Given the description of an element on the screen output the (x, y) to click on. 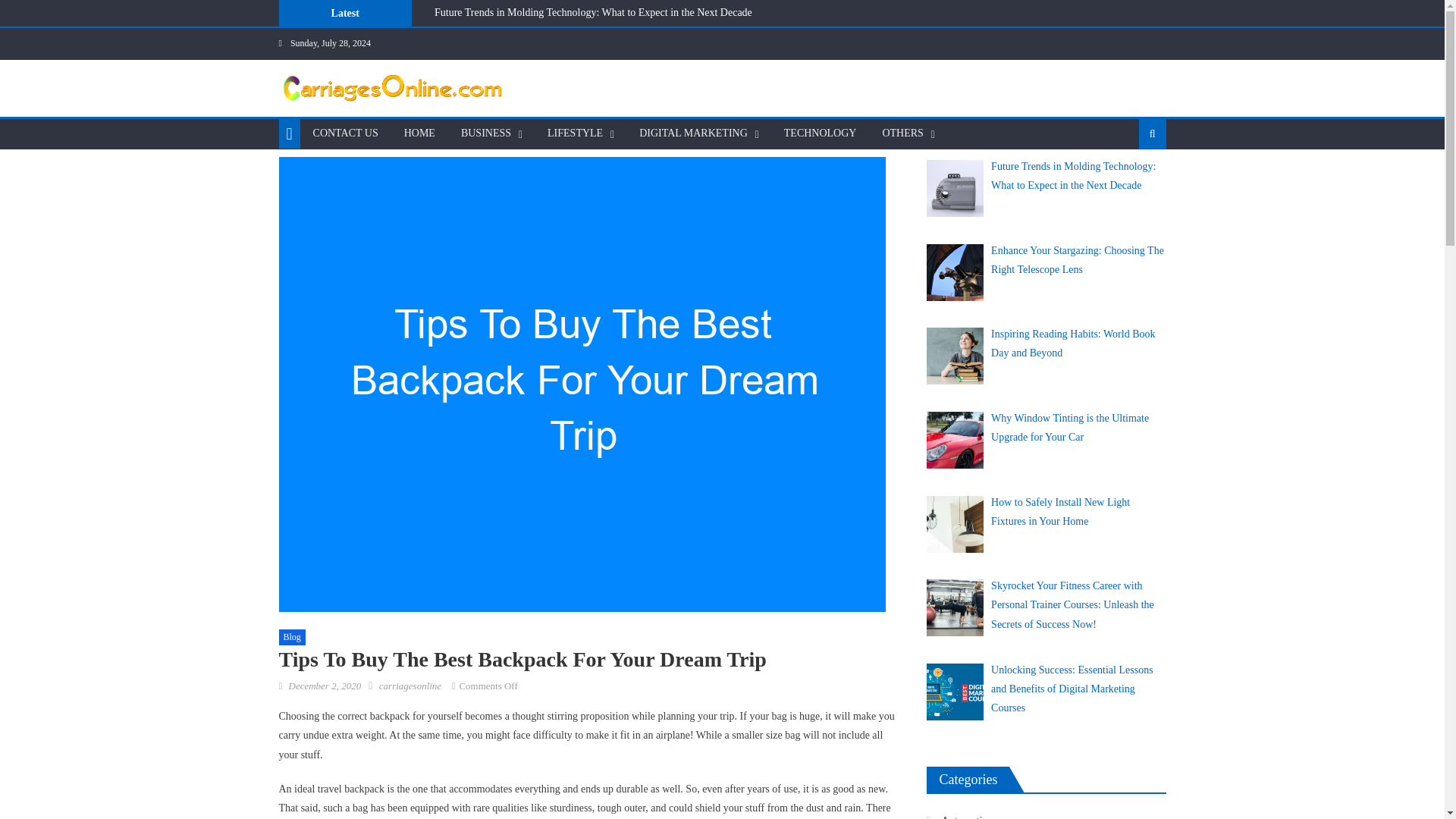
LIFESTYLE (574, 133)
DIGITAL MARKETING (692, 133)
TECHNOLOGY (820, 133)
CONTACT US (345, 133)
BUSINESS (485, 133)
HOME (419, 133)
OTHERS (902, 133)
